Given the description of an element on the screen output the (x, y) to click on. 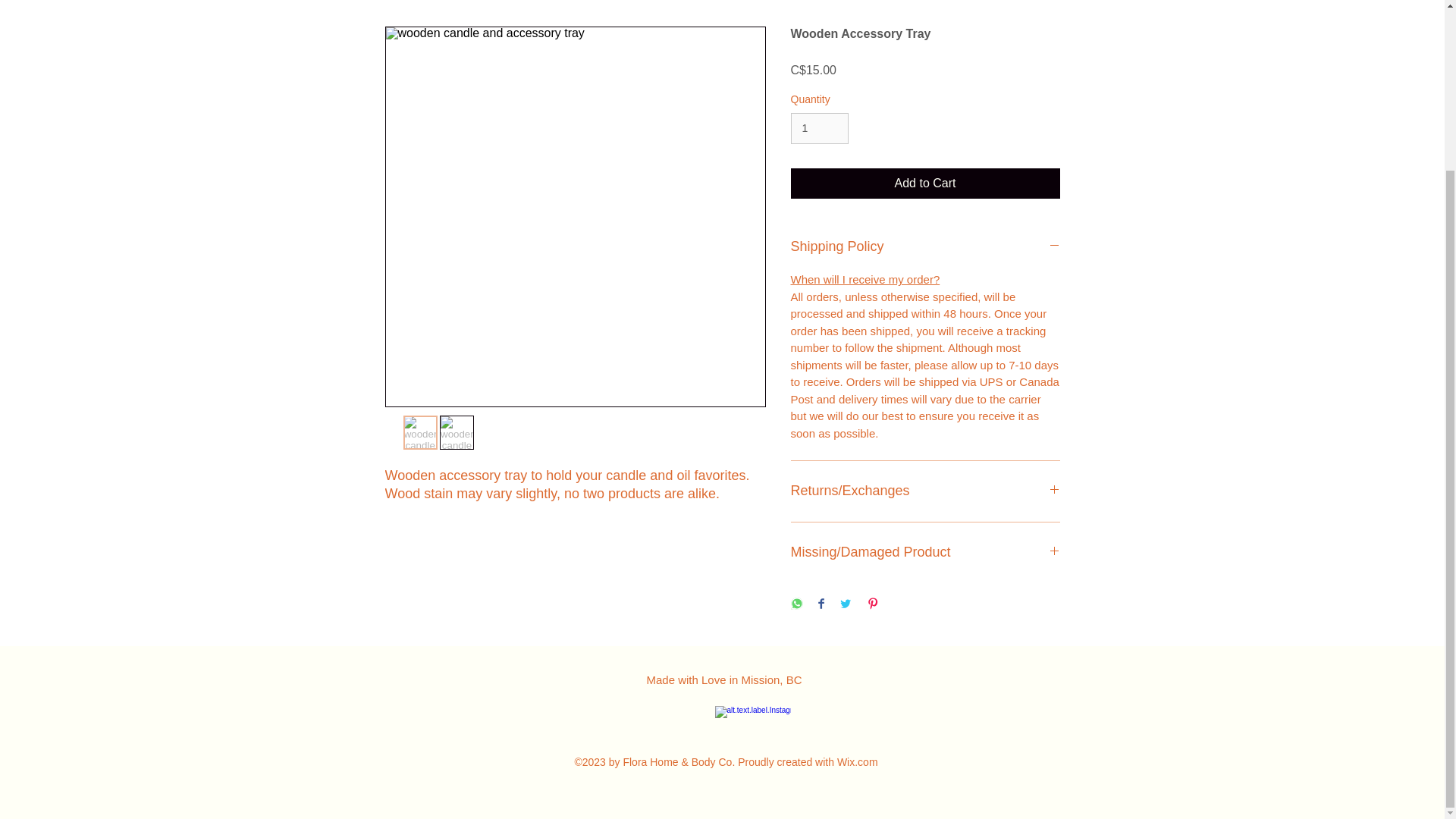
Shipping Policy (924, 247)
Add to Cart (924, 183)
1 (818, 128)
